Given the description of an element on the screen output the (x, y) to click on. 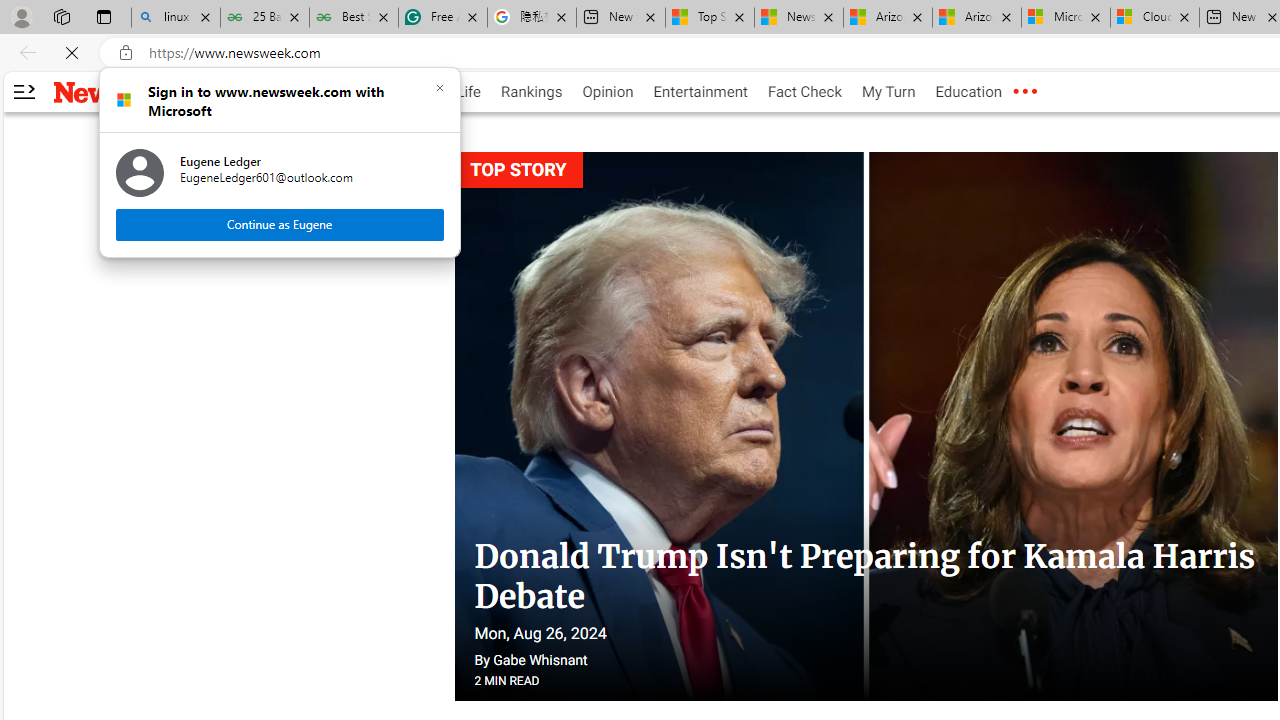
My Turn (888, 92)
Education (968, 92)
My Turn (888, 92)
AutomationID: moreOptions (1023, 92)
linux basic - Search (175, 17)
AutomationID: side-arrow (23, 92)
Continue as Eugene (280, 224)
Fact Check (804, 92)
Education (968, 92)
